Given the description of an element on the screen output the (x, y) to click on. 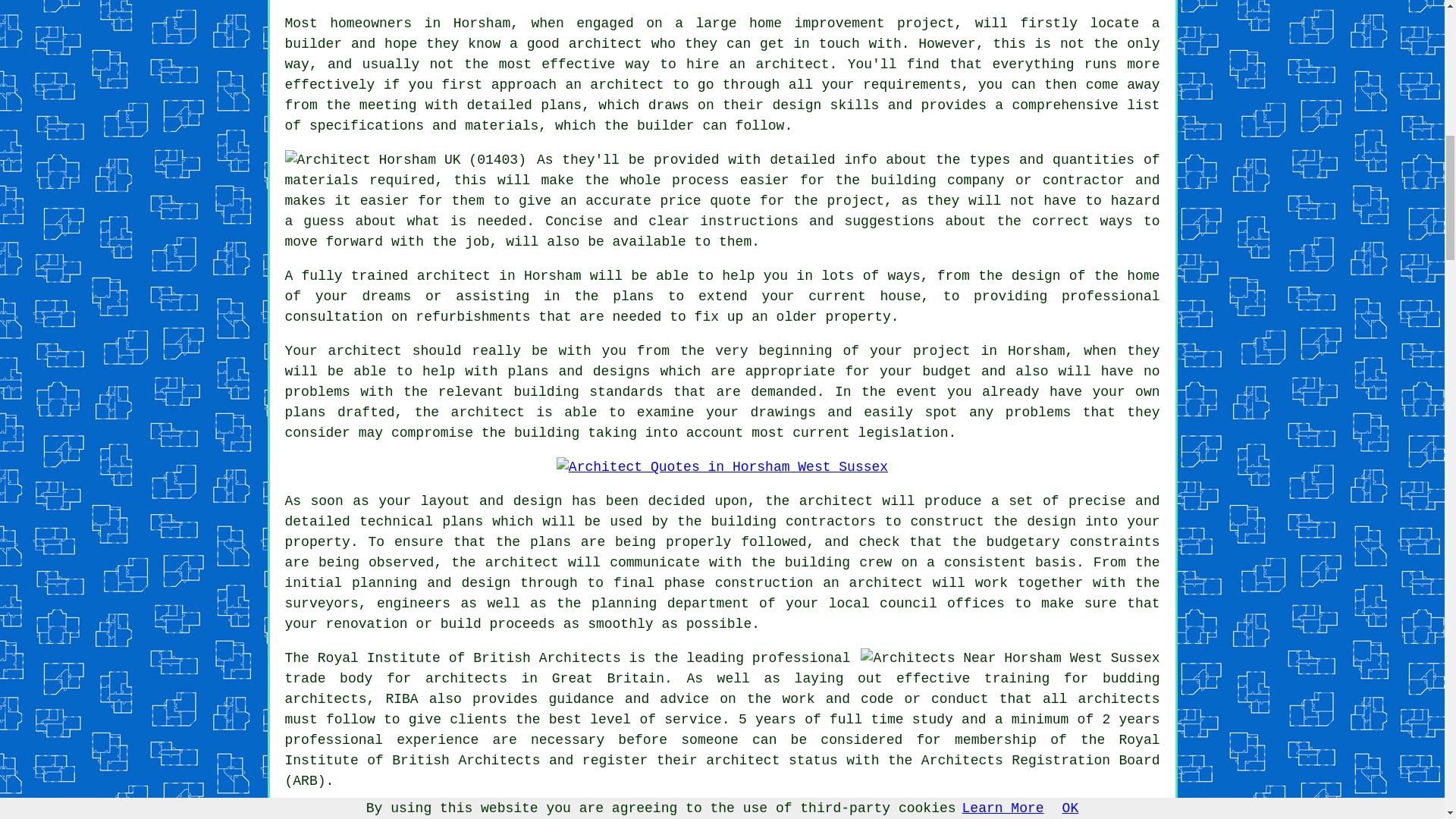
materials (321, 180)
architects (465, 678)
architect (605, 43)
architect (453, 275)
Architect Quotes in Horsham West Sussex (722, 467)
design (1050, 521)
Architects Near Horsham West Sussex (1009, 658)
